Given the description of an element on the screen output the (x, y) to click on. 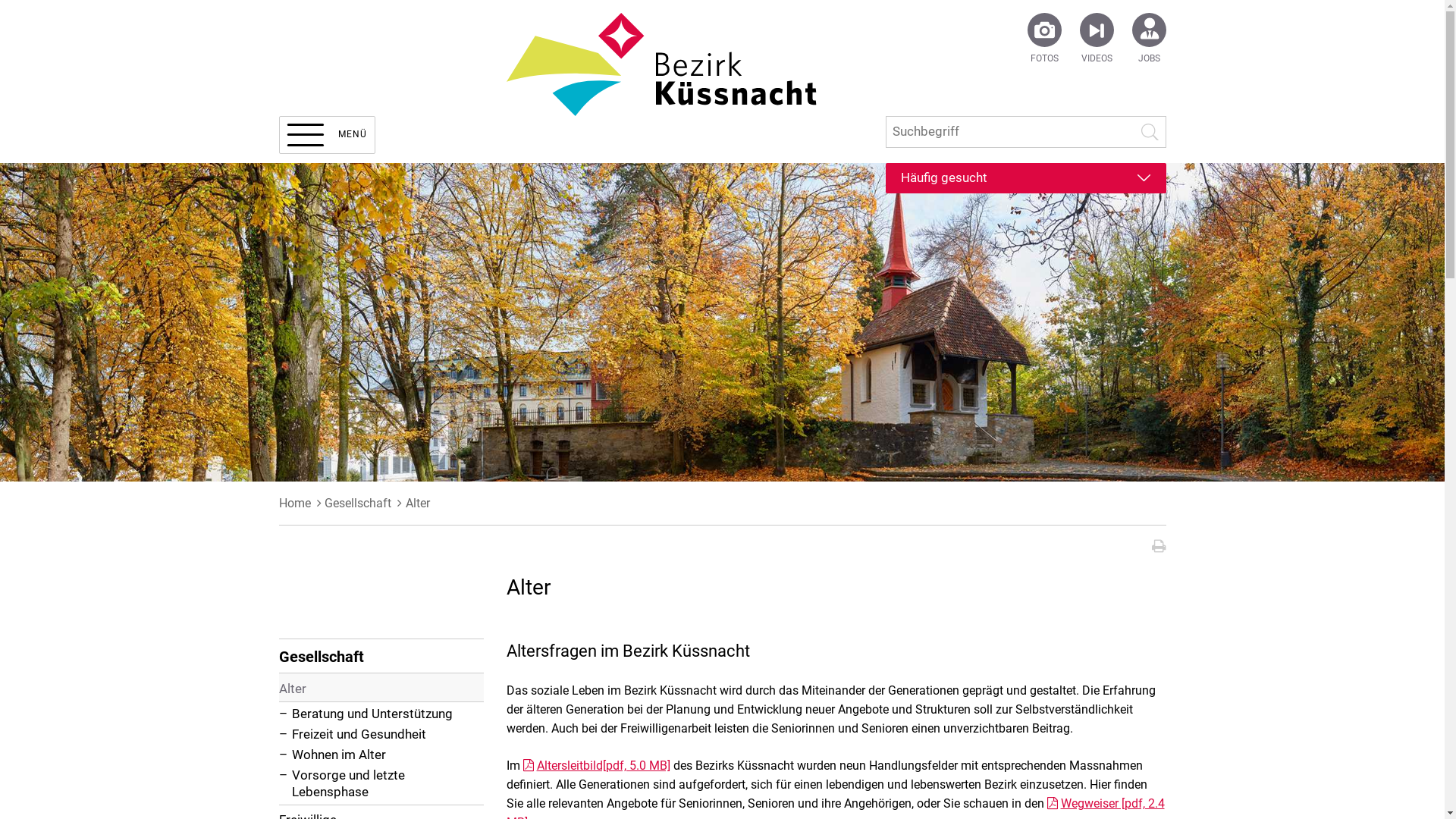
Gesellschaft Element type: text (357, 502)
Seite drucken Element type: text (1158, 545)
JOBS Element type: text (1148, 58)
Altersleitbild[pdf, 5.0 MB] Element type: text (596, 765)
Homepage Element type: hover (684, 64)
Wohnen im Alter Element type: text (381, 756)
Vorsorge und letzte Lebensphase Element type: text (381, 784)
Freizeit und Gesundheit Element type: text (381, 735)
Alter Element type: text (381, 687)
Suche starten Element type: text (1150, 131)
FOTOS Element type: text (1043, 58)
Home Element type: text (294, 502)
VIDEOS Element type: text (1096, 58)
